Given the description of an element on the screen output the (x, y) to click on. 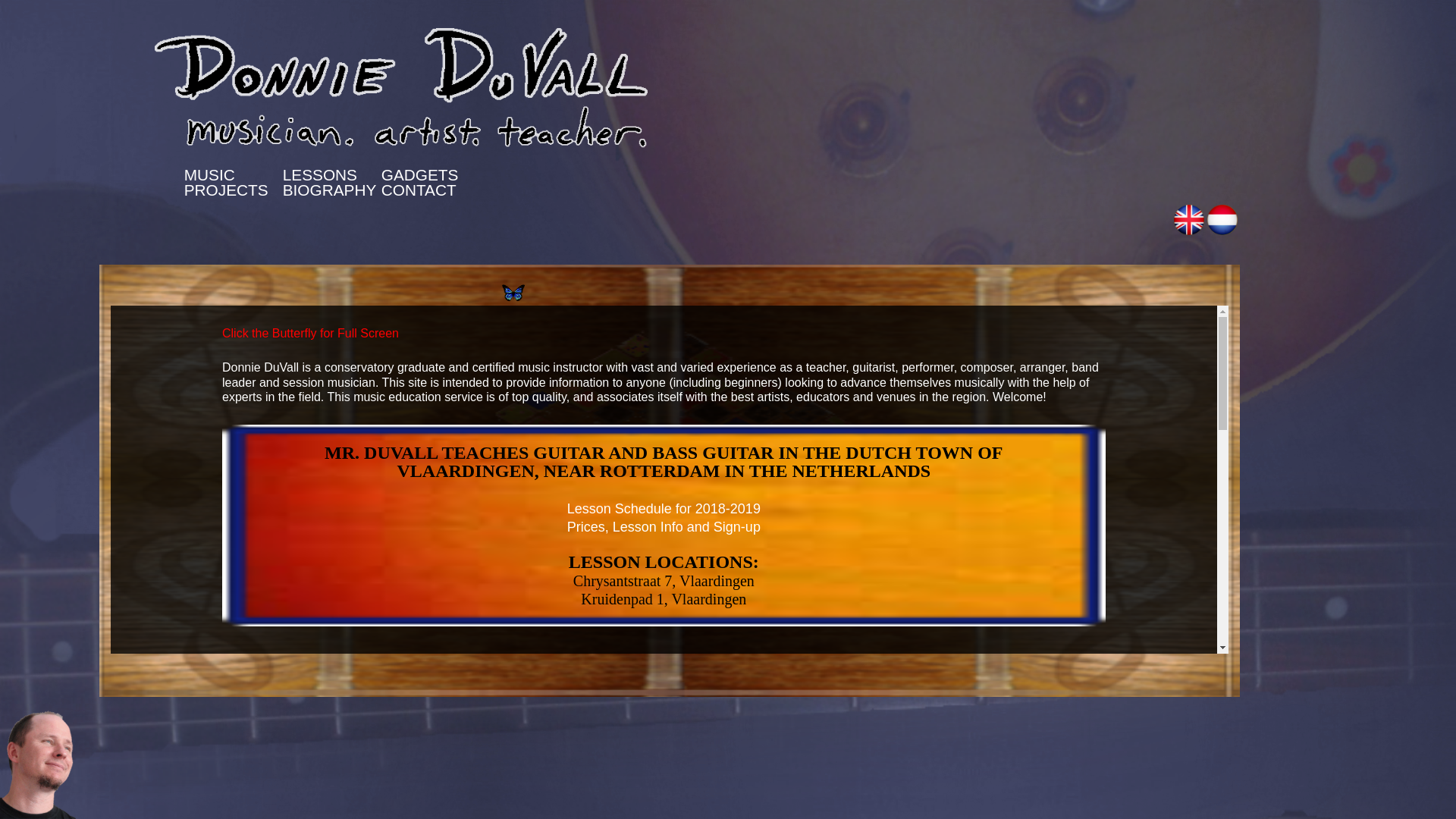
Lesson Schedule for 2018-2019 (663, 508)
Prices, Lesson Info and Sign-up (663, 526)
PROJECTS (225, 189)
LESSONS (319, 174)
BIOGRAPHY (329, 189)
CONTACT (419, 189)
GADGETS (419, 174)
MUSIC (209, 174)
FULL SCREEN (513, 291)
